Given the description of an element on the screen output the (x, y) to click on. 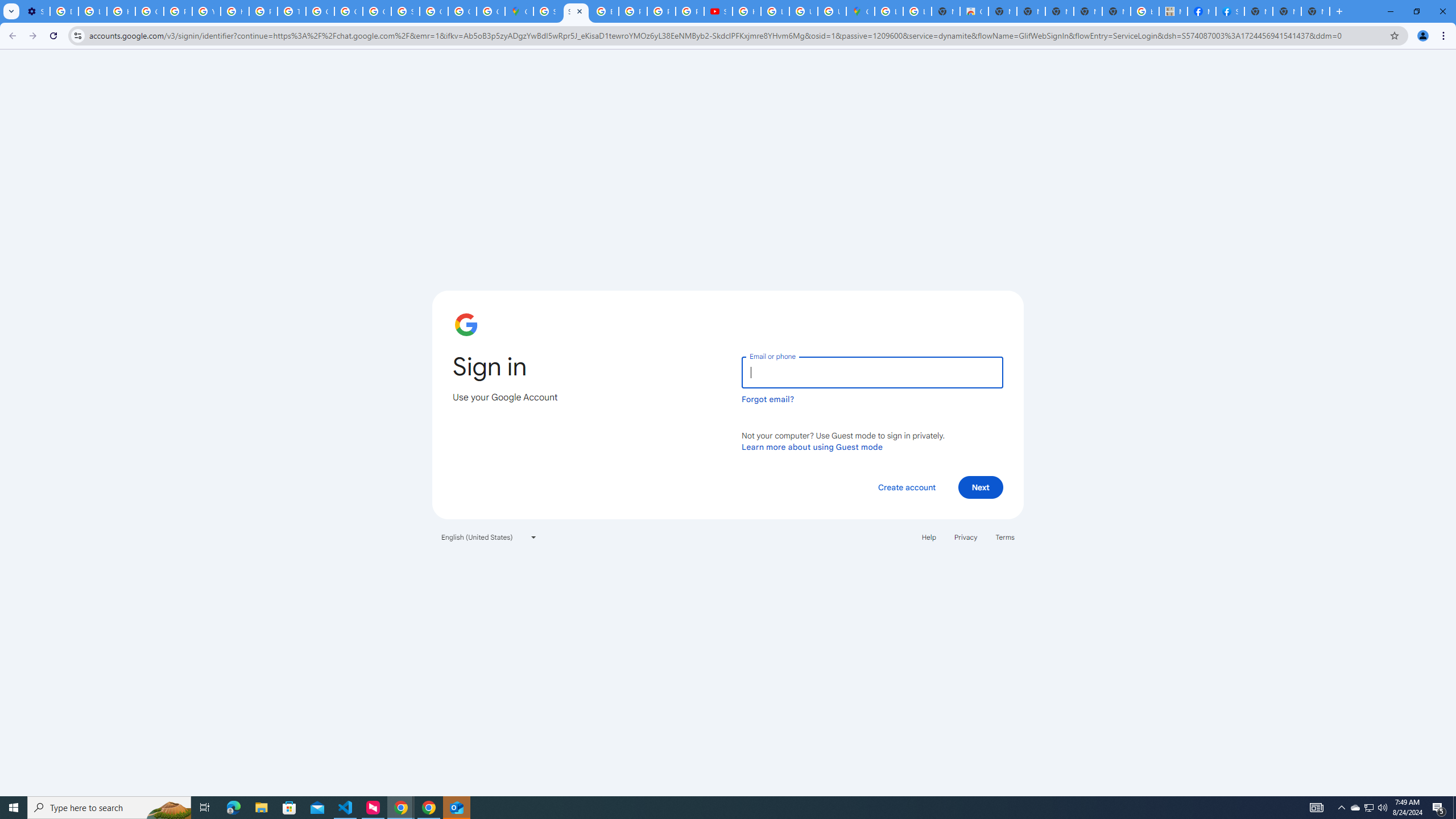
Email or phone (871, 372)
MILEY CYRUS. (1173, 11)
Sign in - Google Accounts (575, 11)
Miley Cyrus | Facebook (1201, 11)
Privacy Help Center - Policies Help (632, 11)
